Given the description of an element on the screen output the (x, y) to click on. 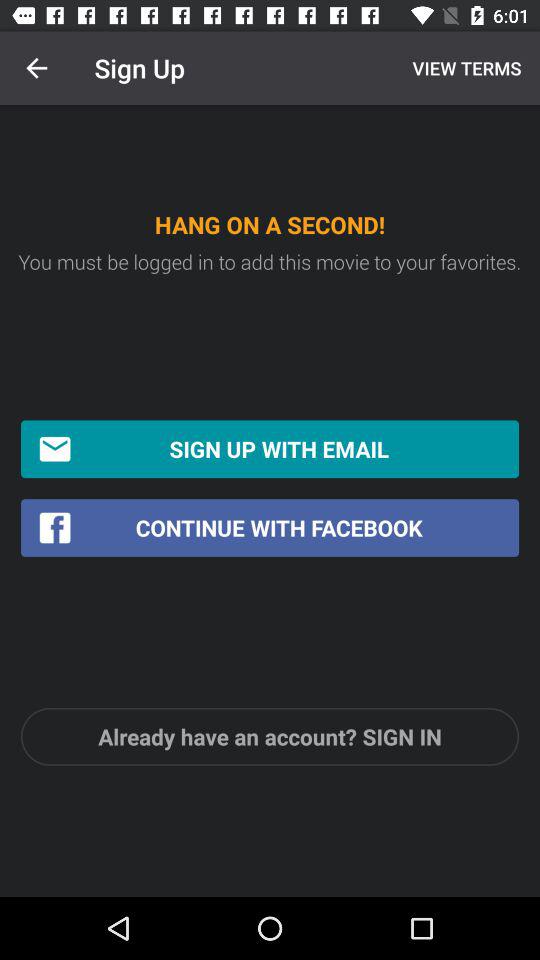
open the icon to the left of the sign up item (36, 68)
